Given the description of an element on the screen output the (x, y) to click on. 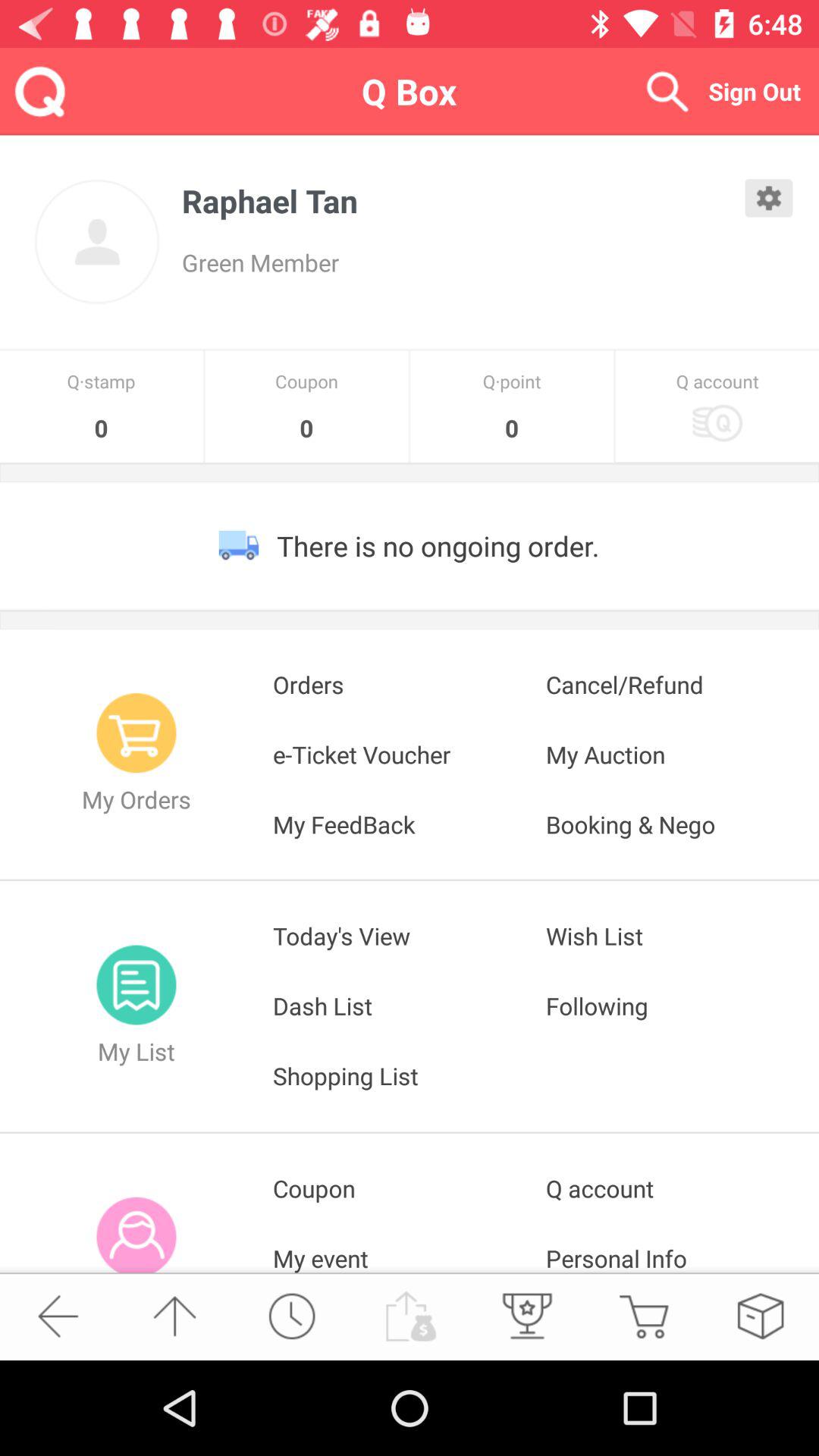
awards button (525, 1316)
